Given the description of an element on the screen output the (x, y) to click on. 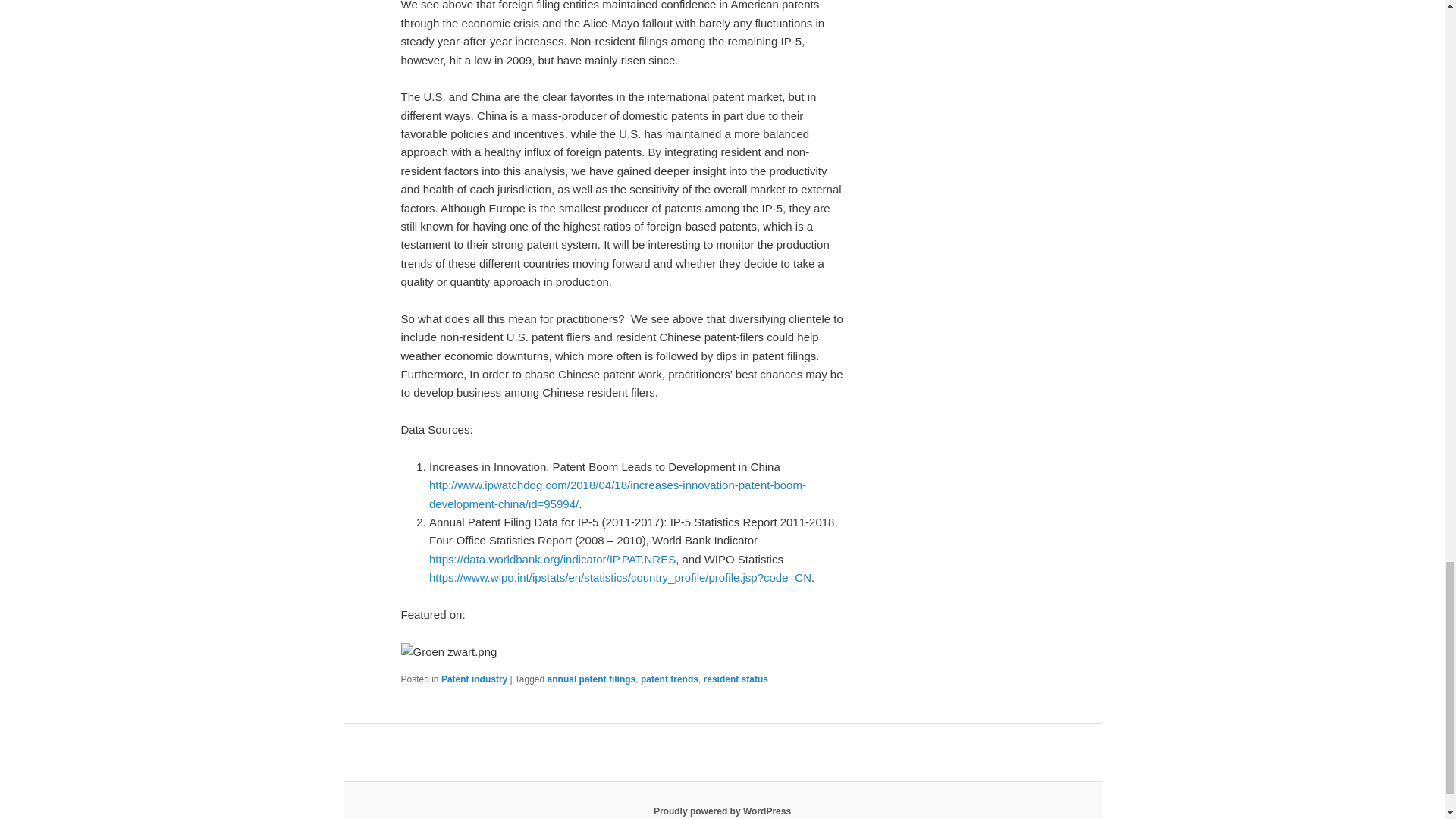
patent trends (669, 679)
annual patent filings (591, 679)
Patent industry (473, 679)
resident status (735, 679)
Semantic Personal Publishing Platform (721, 810)
Proudly powered by WordPress (721, 810)
